Given the description of an element on the screen output the (x, y) to click on. 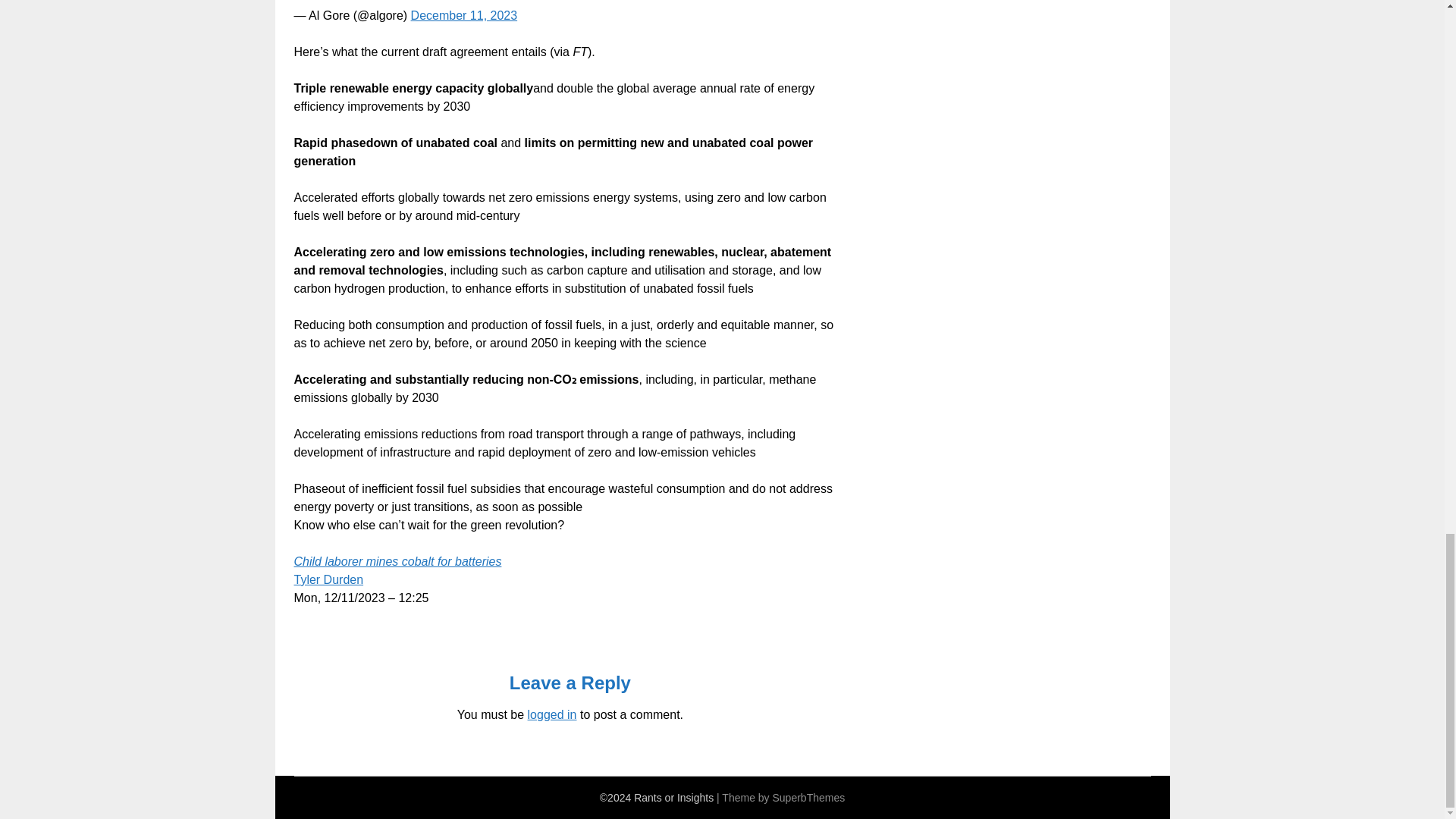
December 11, 2023 (464, 15)
logged in (551, 714)
View user profile. (329, 579)
Child laborer mines cobalt for batteries (398, 561)
SuperbThemes (807, 797)
Tyler Durden (329, 579)
